Given the description of an element on the screen output the (x, y) to click on. 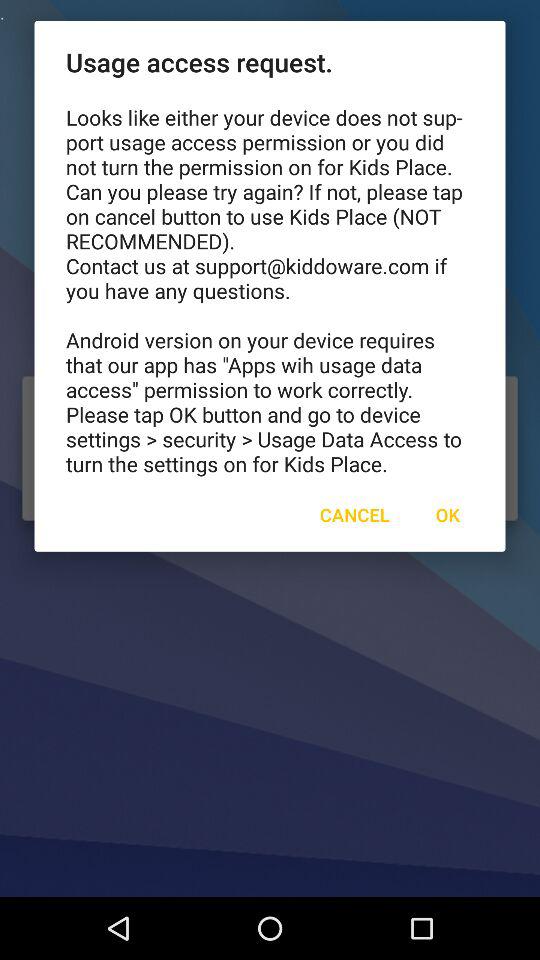
turn off item next to the ok icon (354, 514)
